Given the description of an element on the screen output the (x, y) to click on. 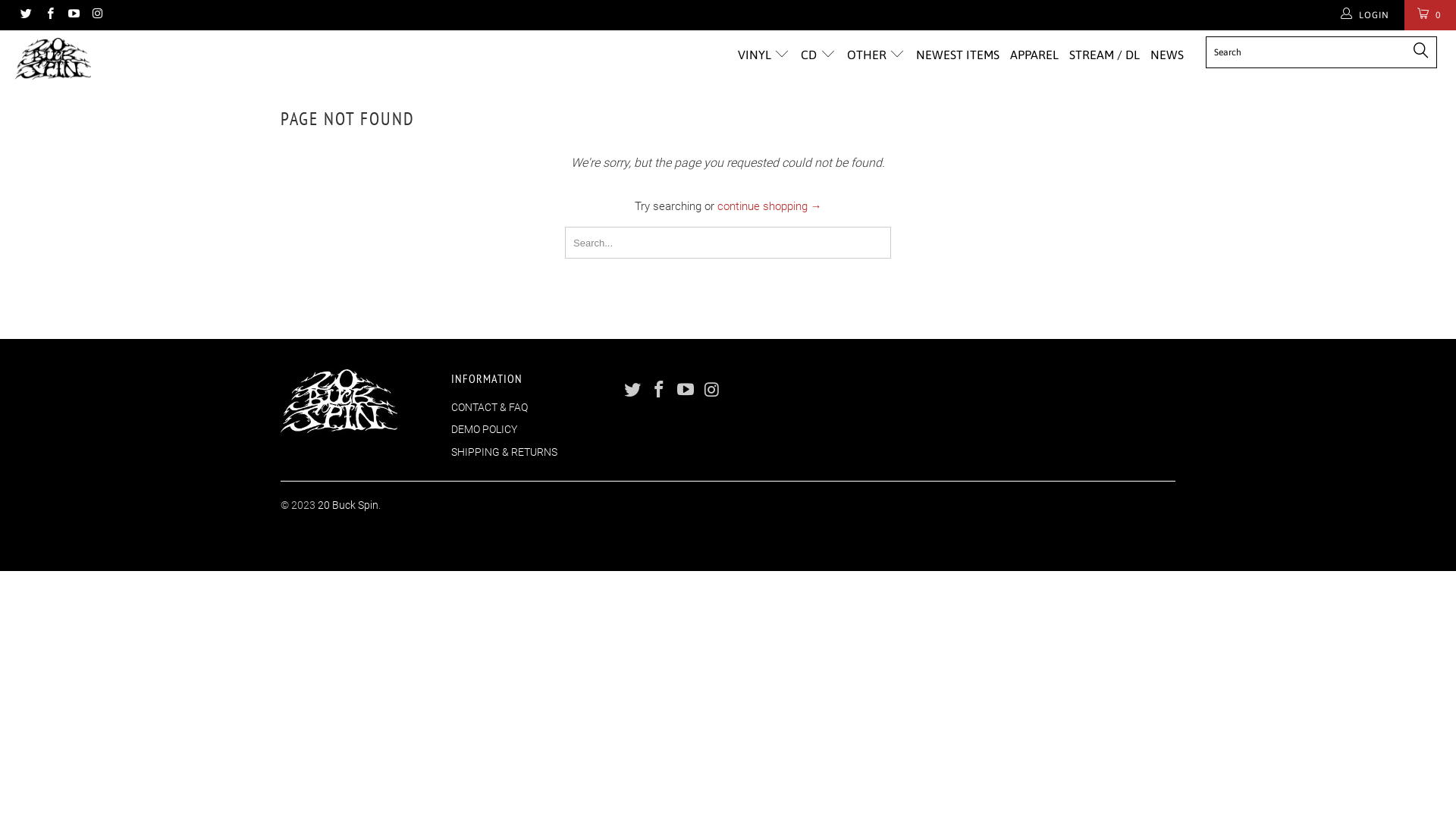
DEMO POLICY Element type: text (484, 429)
20 Buck Spin Element type: text (347, 504)
OTHER Element type: text (876, 54)
20 Buck Spin on YouTube Element type: hover (685, 390)
LOGIN Element type: text (1366, 15)
20 Buck Spin on Facebook Element type: hover (48, 14)
20 Buck Spin on Instagram Element type: hover (711, 390)
CD Element type: text (818, 54)
20 Buck Spin on Instagram Element type: hover (96, 14)
VINYL Element type: text (763, 54)
20 Buck Spin on Facebook Element type: hover (659, 390)
20 Buck Spin Element type: hover (123, 58)
CONTACT & FAQ Element type: text (489, 407)
SHIPPING & RETURNS Element type: text (504, 451)
STREAM / DL Element type: text (1104, 54)
APPAREL Element type: text (1034, 54)
NEWS Element type: text (1166, 54)
NEWEST ITEMS Element type: text (957, 54)
20 Buck Spin on Twitter Element type: hover (24, 14)
20 Buck Spin on Twitter Element type: hover (632, 390)
20 Buck Spin on YouTube Element type: hover (72, 14)
